Given the description of an element on the screen output the (x, y) to click on. 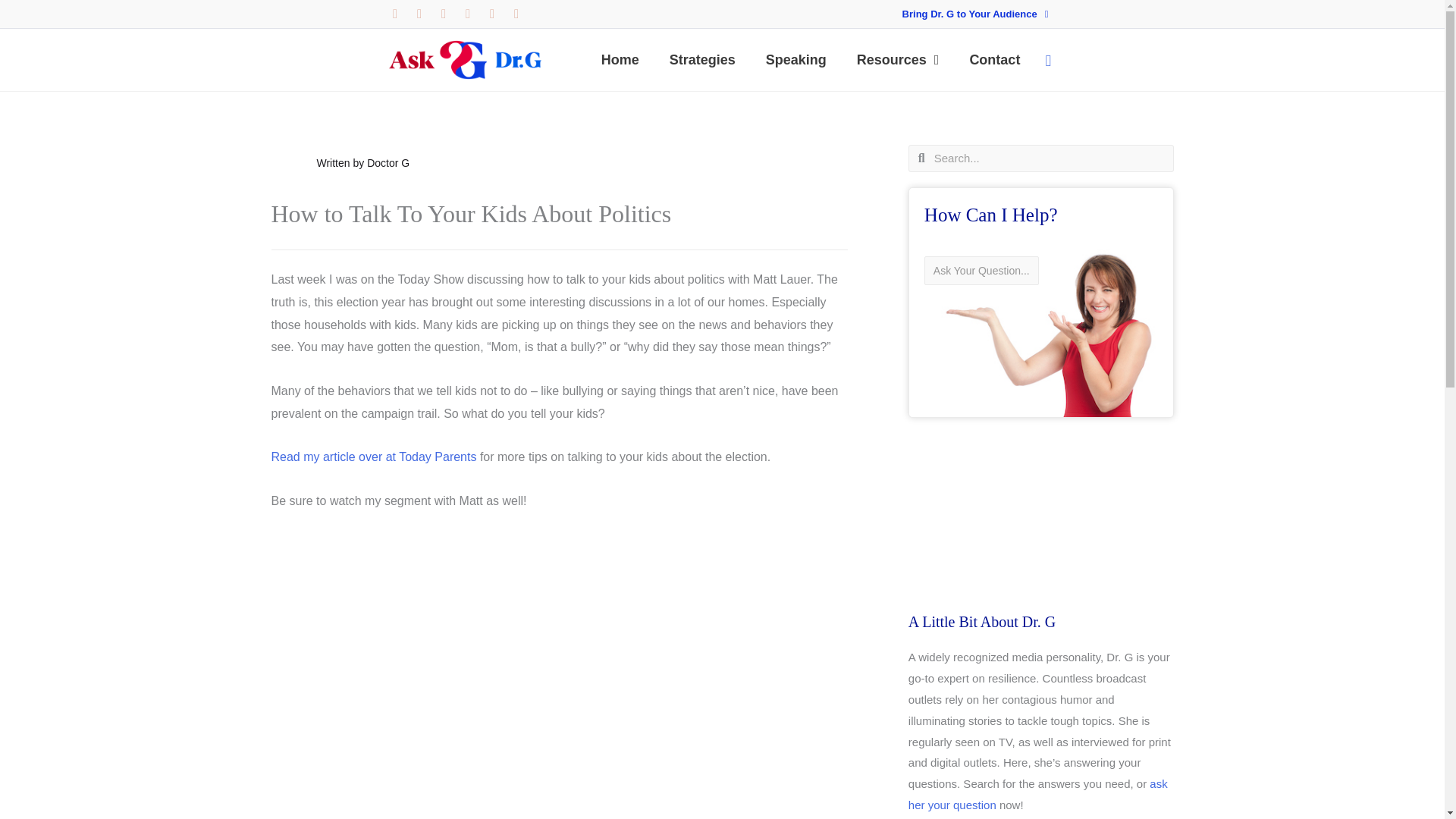
Bring Dr. G to Your Audience (975, 13)
Contact (994, 59)
Envelope (515, 13)
Instagram (442, 13)
Resources (898, 59)
Home (619, 59)
Speaking (796, 59)
Linkedin (394, 13)
Read my article over at Today Parents  (375, 456)
Facebook (467, 13)
Strategies (702, 59)
Youtube (490, 13)
Twitter (418, 13)
